Given the description of an element on the screen output the (x, y) to click on. 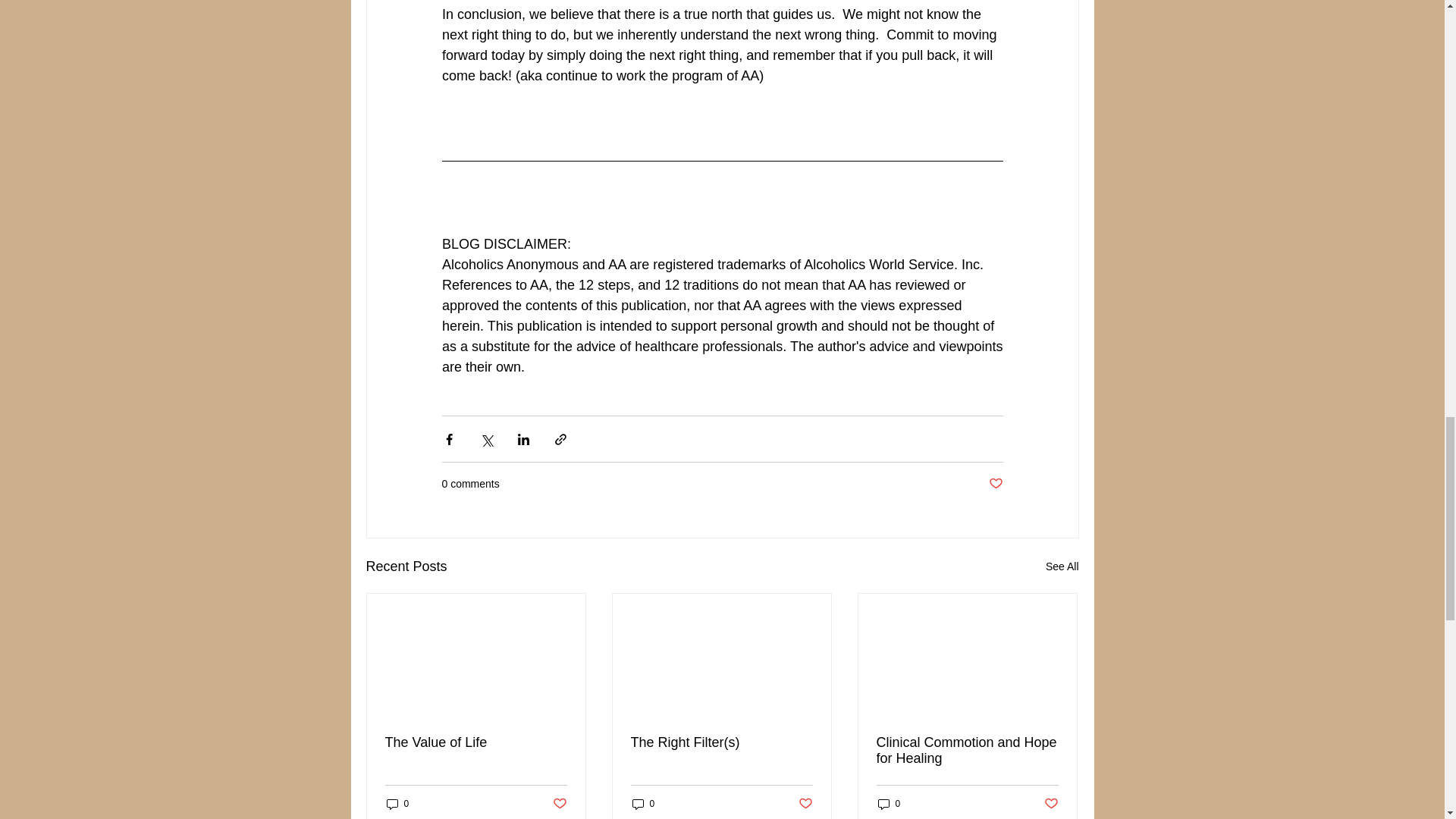
Post not marked as liked (558, 804)
See All (1061, 567)
0 (889, 803)
0 (397, 803)
The Value of Life (476, 742)
Post not marked as liked (1050, 804)
Post not marked as liked (804, 804)
Post not marked as liked (995, 483)
Clinical Commotion and Hope for Healing (967, 750)
0 (643, 803)
